Given the description of an element on the screen output the (x, y) to click on. 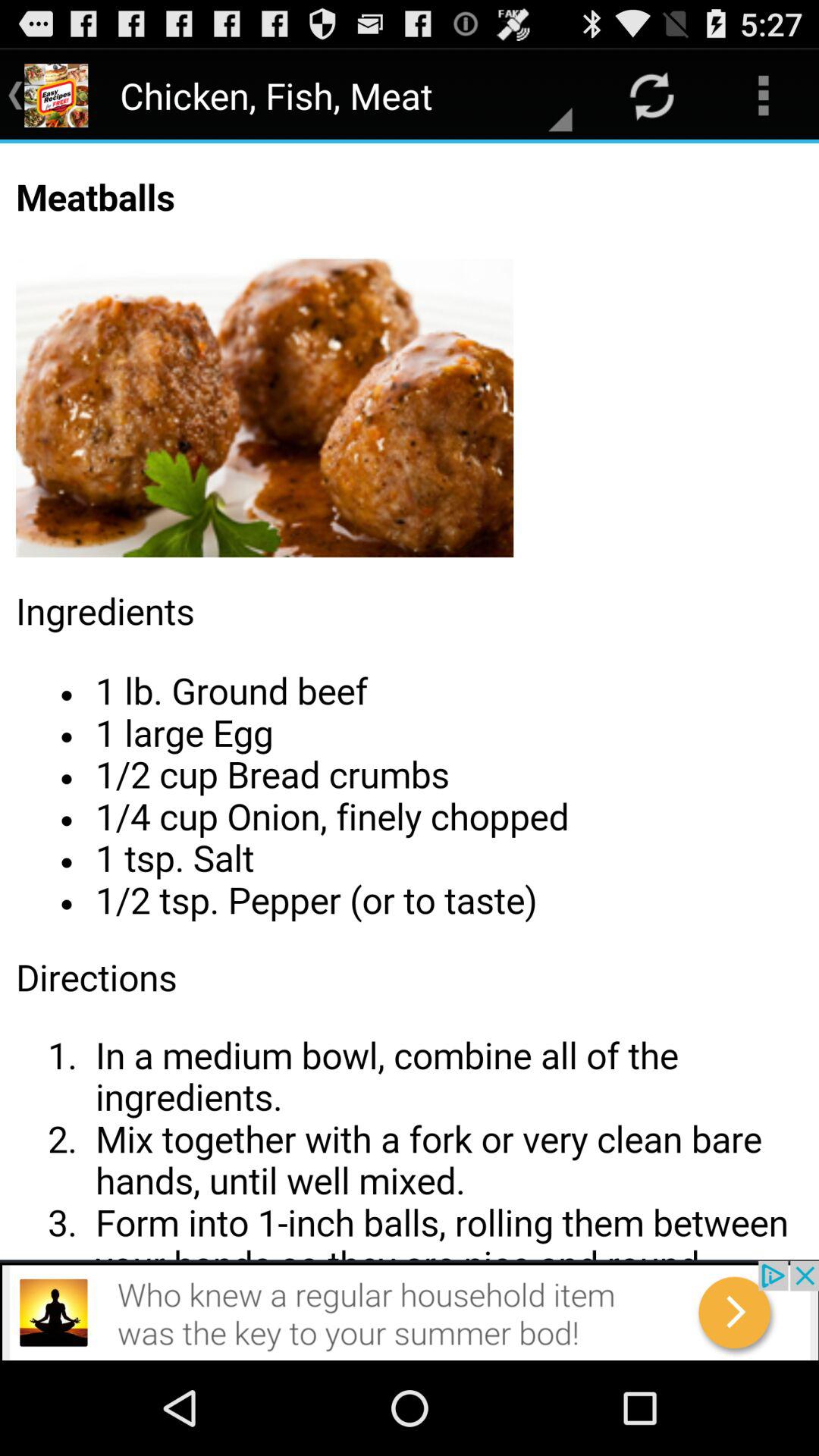
advertisement (409, 1310)
